Given the description of an element on the screen output the (x, y) to click on. 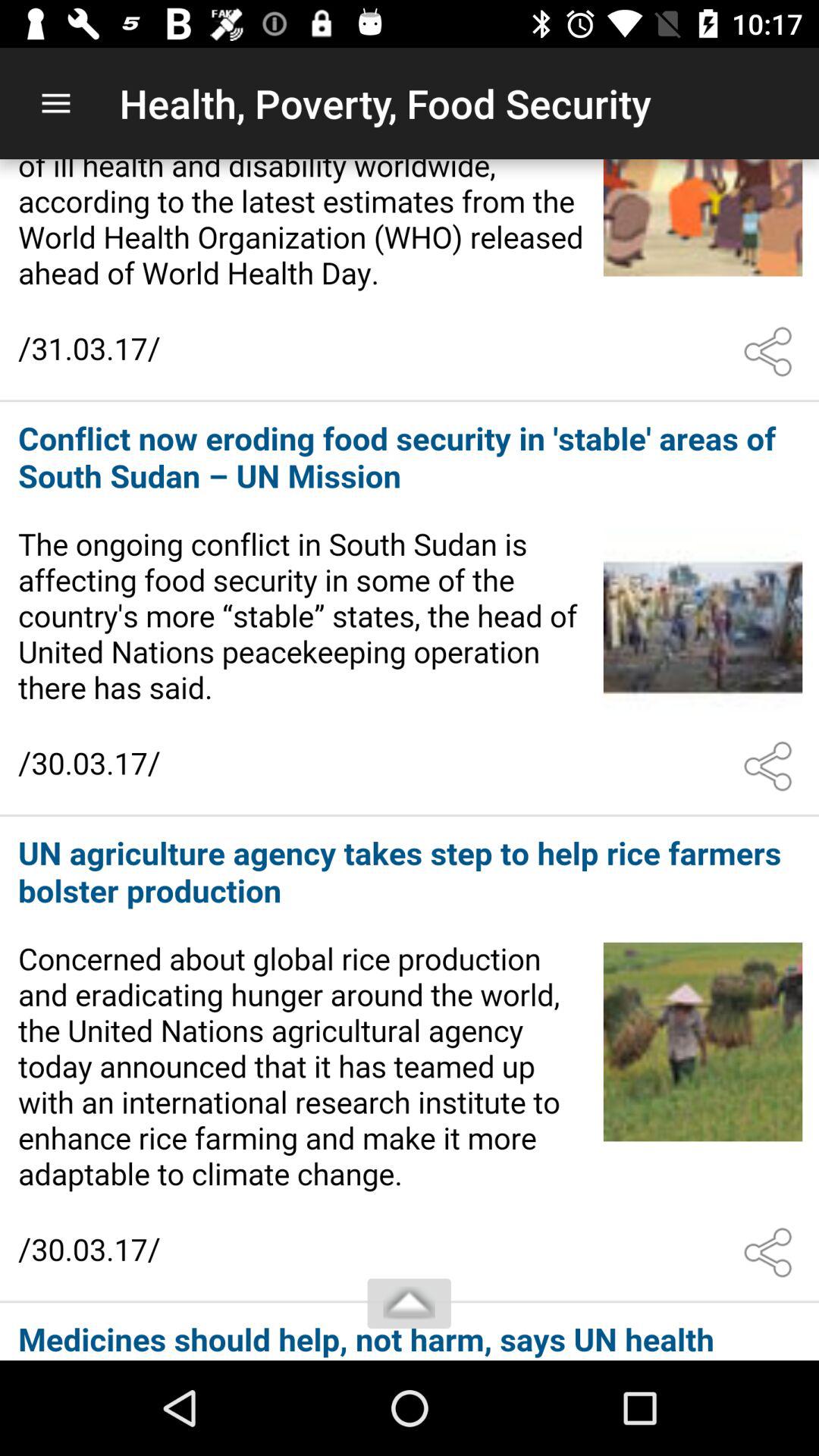
select article (409, 609)
